Given the description of an element on the screen output the (x, y) to click on. 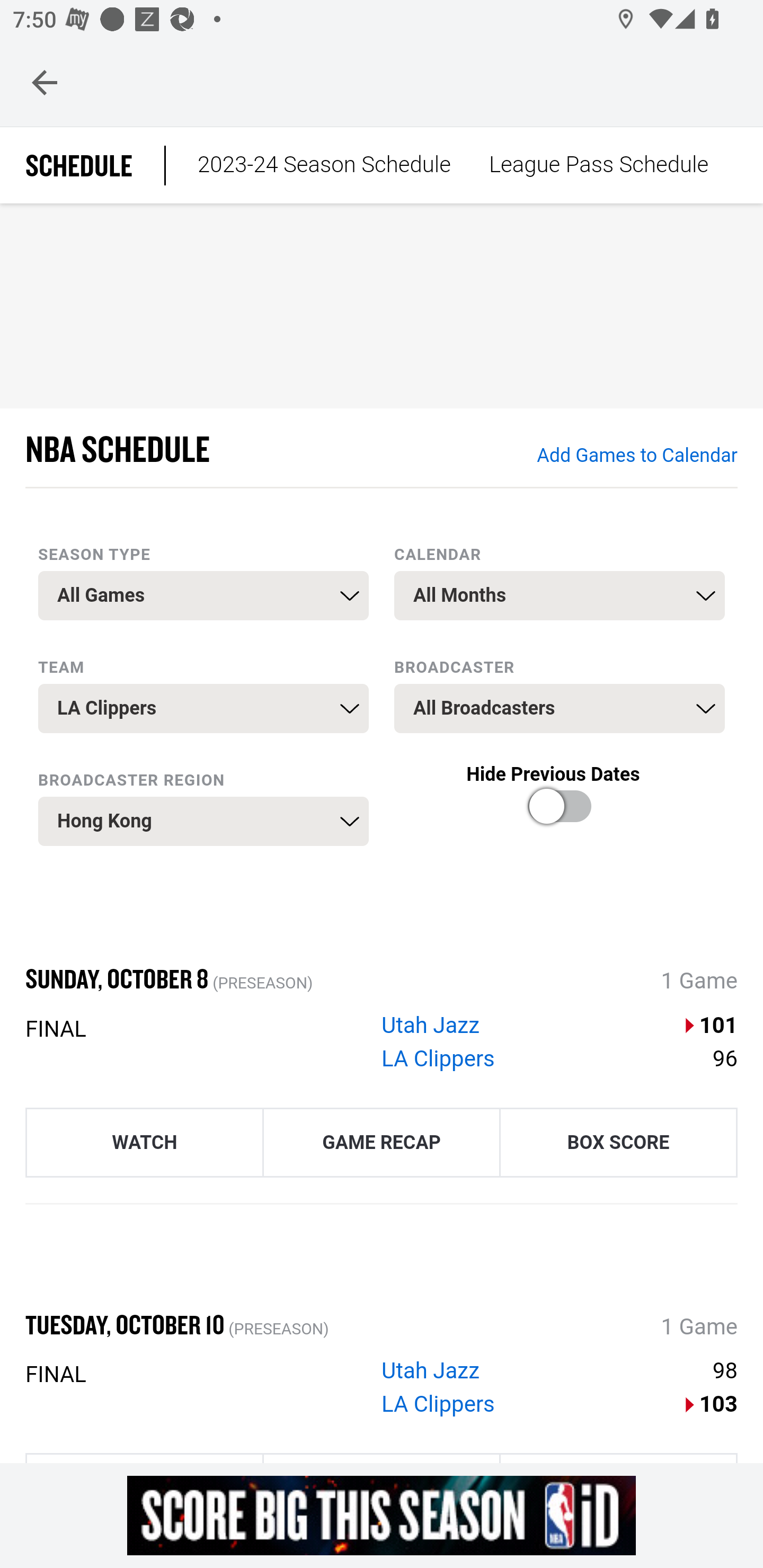
Navigate up (44, 82)
2023-24 Season Schedule (323, 165)
League Pass Schedule (598, 165)
Add Games to Calendar (636, 455)
All Games (203, 595)
All Months (559, 595)
LA Clippers (203, 708)
All Broadcasters (559, 708)
Hong Kong (203, 821)
Utah Jazz (430, 1025)
LA Clippers (438, 1058)
WATCH (144, 1141)
GAME RECAP (381, 1141)
BOX SCORE (618, 1141)
Utah Jazz (430, 1371)
LA Clippers (438, 1404)
g5nqqygr7owph (381, 1515)
